Given the description of an element on the screen output the (x, y) to click on. 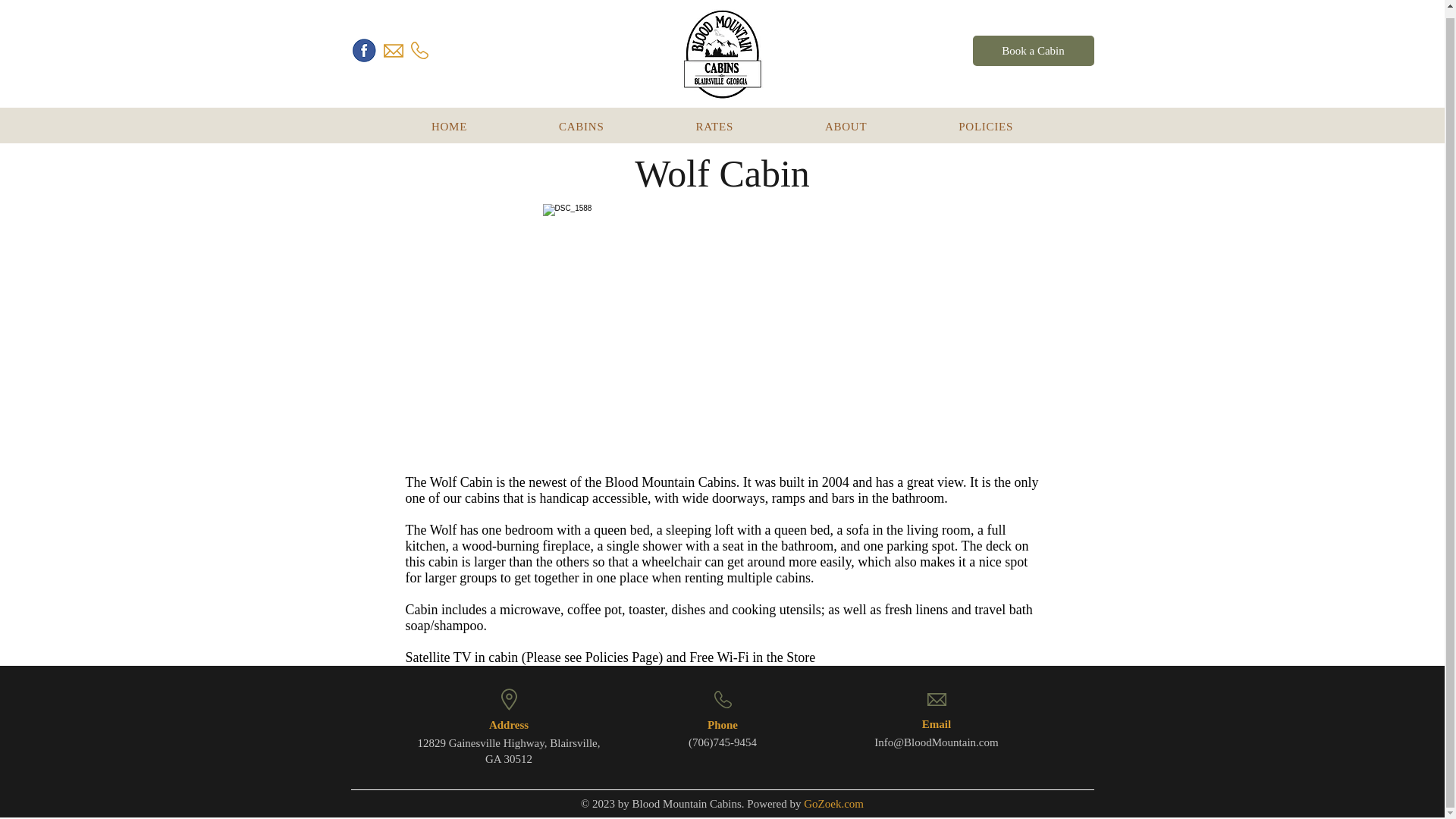
POLICIES (986, 120)
GoZoek.com (721, 120)
HOME (833, 803)
Book a Cabin (448, 120)
ABOUT (1032, 43)
CABINS (844, 120)
RATES (581, 120)
